Given the description of an element on the screen output the (x, y) to click on. 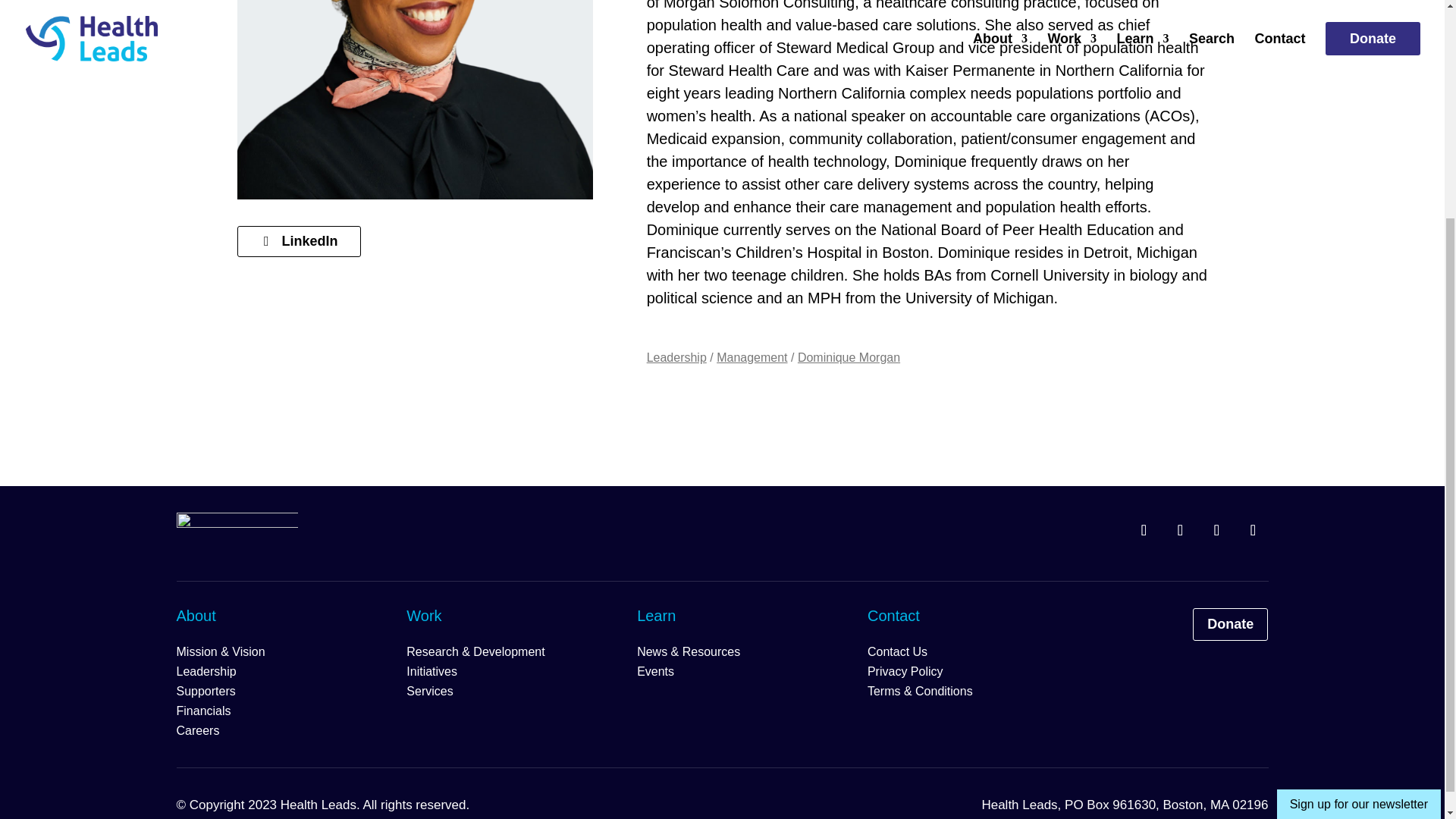
Follow on Youtube (1252, 530)
Leadership (205, 671)
Follow on Facebook (1179, 530)
Management (751, 357)
Supporters (205, 690)
LinkedIn (297, 241)
Services (429, 690)
Events (655, 671)
Financials (203, 710)
Careers (197, 730)
